Given the description of an element on the screen output the (x, y) to click on. 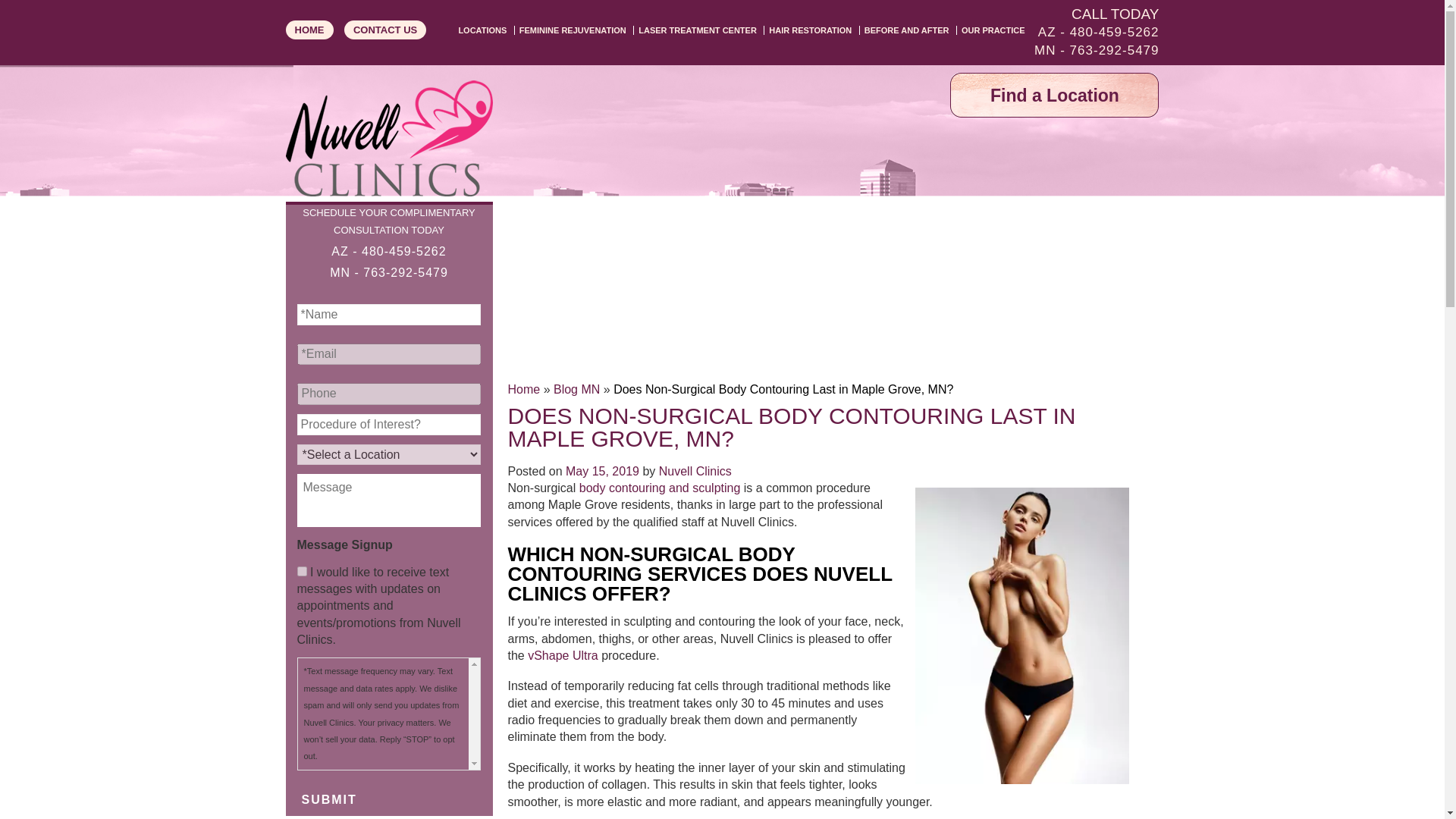
1 (302, 571)
Submit (329, 799)
OUR PRACTICE (990, 30)
8:00 am (602, 471)
HAIR RESTORATION (806, 30)
CONTACT US (384, 29)
LASER TREATMENT CENTER (695, 30)
LOCATIONS (479, 30)
FEMININE REJUVENATION (569, 30)
BEFORE AND AFTER (904, 30)
View all posts by Nuvell Clinics (695, 471)
HOME (309, 29)
